Given the description of an element on the screen output the (x, y) to click on. 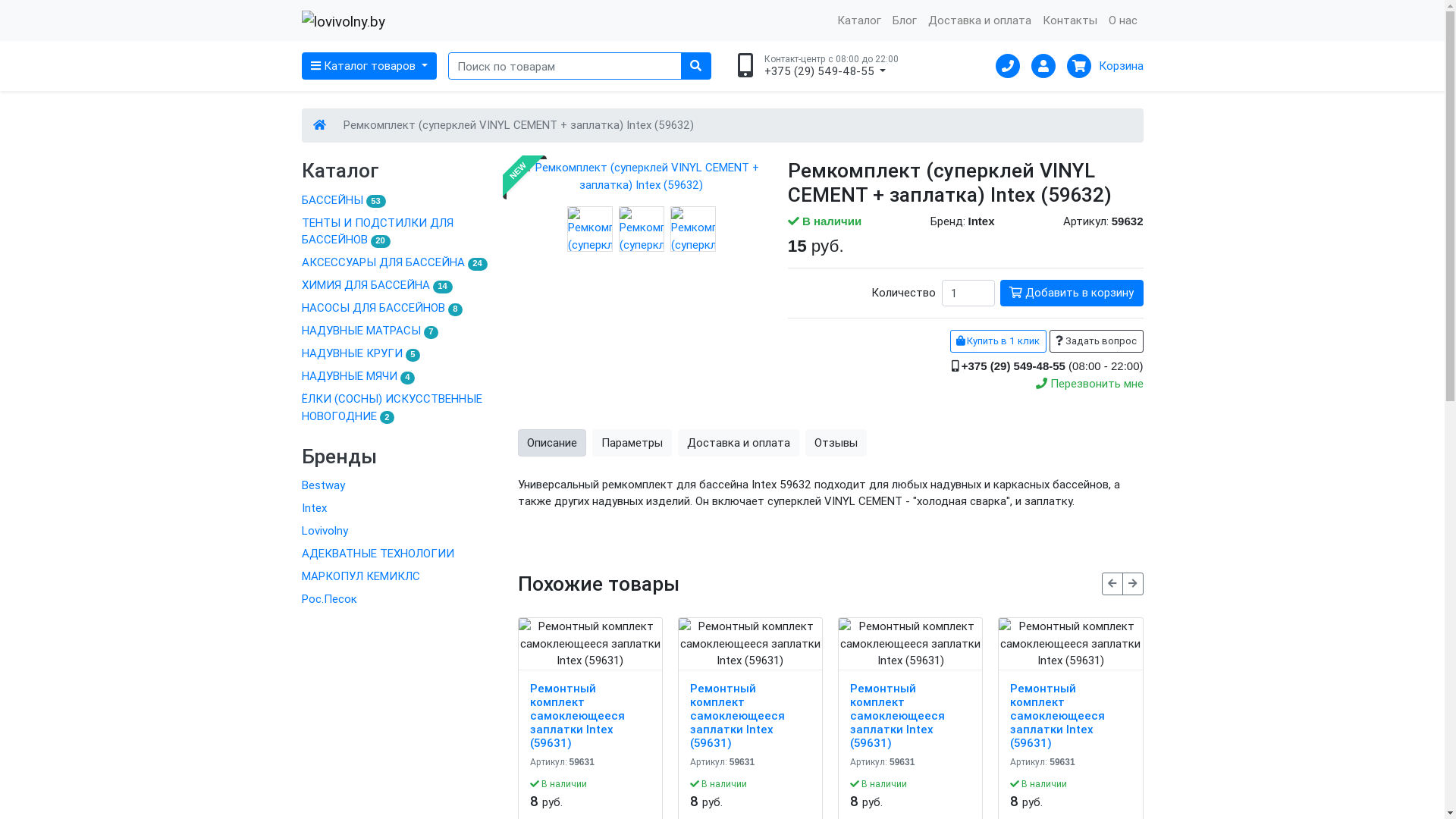
Lovivolny Element type: text (398, 531)
lovivolny.by Element type: hover (343, 20)
Intex Element type: text (398, 508)
Bestway Element type: text (398, 485)
